Given the description of an element on the screen output the (x, y) to click on. 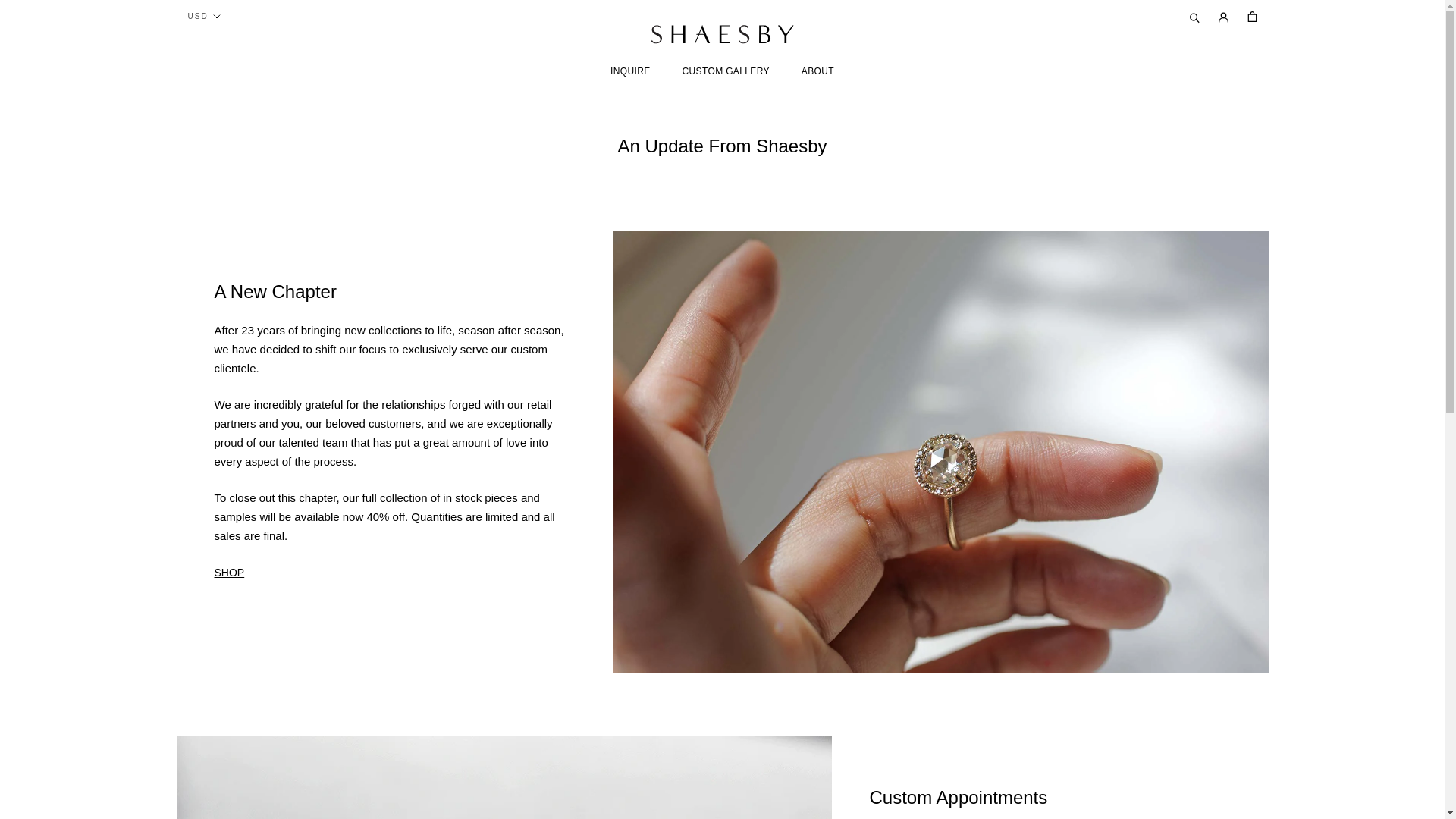
SHOP (229, 572)
Currency selector (818, 71)
SHOP (726, 71)
